Given the description of an element on the screen output the (x, y) to click on. 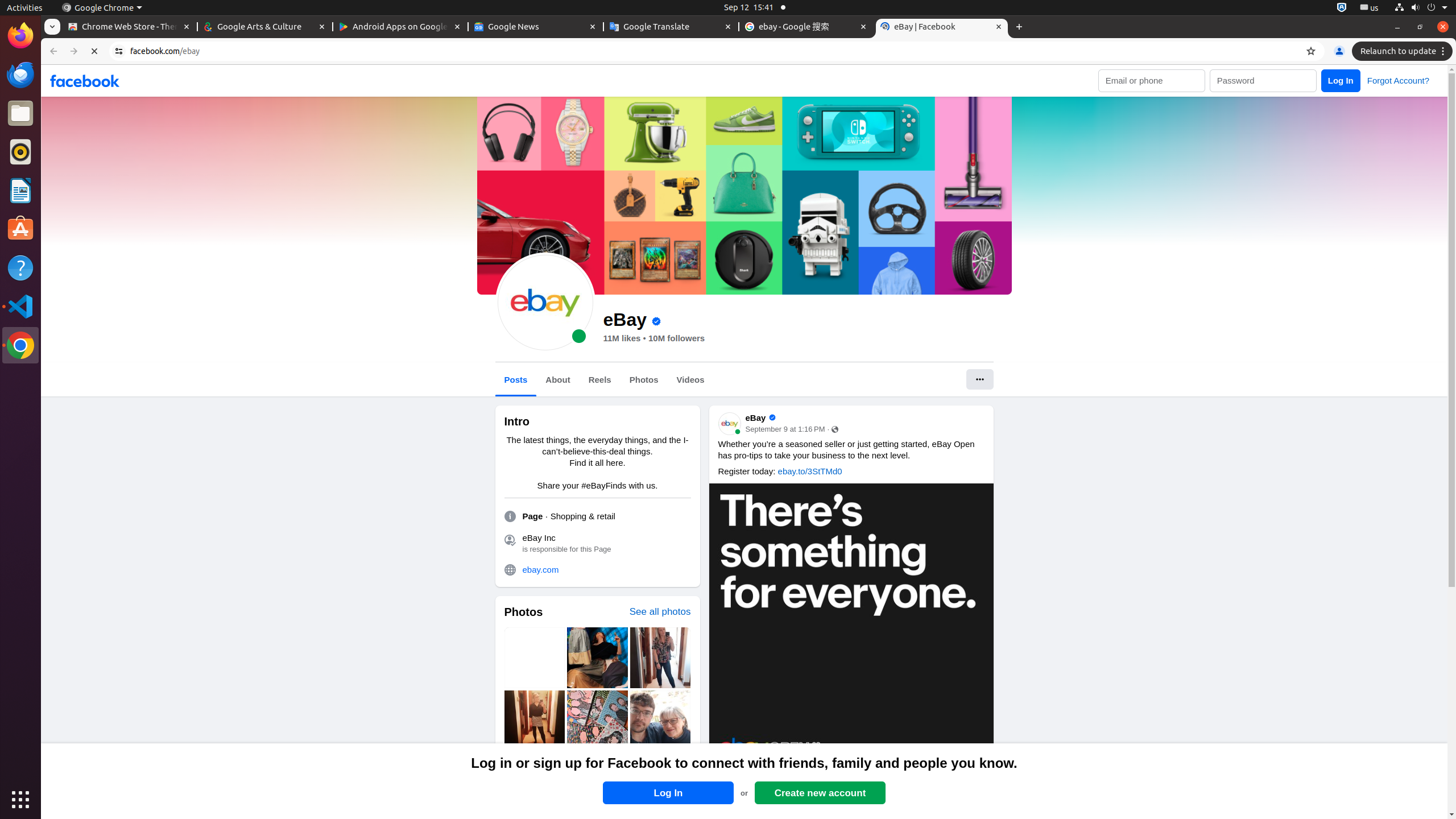
View site information Element type: push-button (118, 51)
Reels Element type: page-tab (599, 379)
ebay.com Element type: link (606, 569)
10M followers Element type: link (676, 338)
Google Chrome Element type: menu (101, 7)
